Given the description of an element on the screen output the (x, y) to click on. 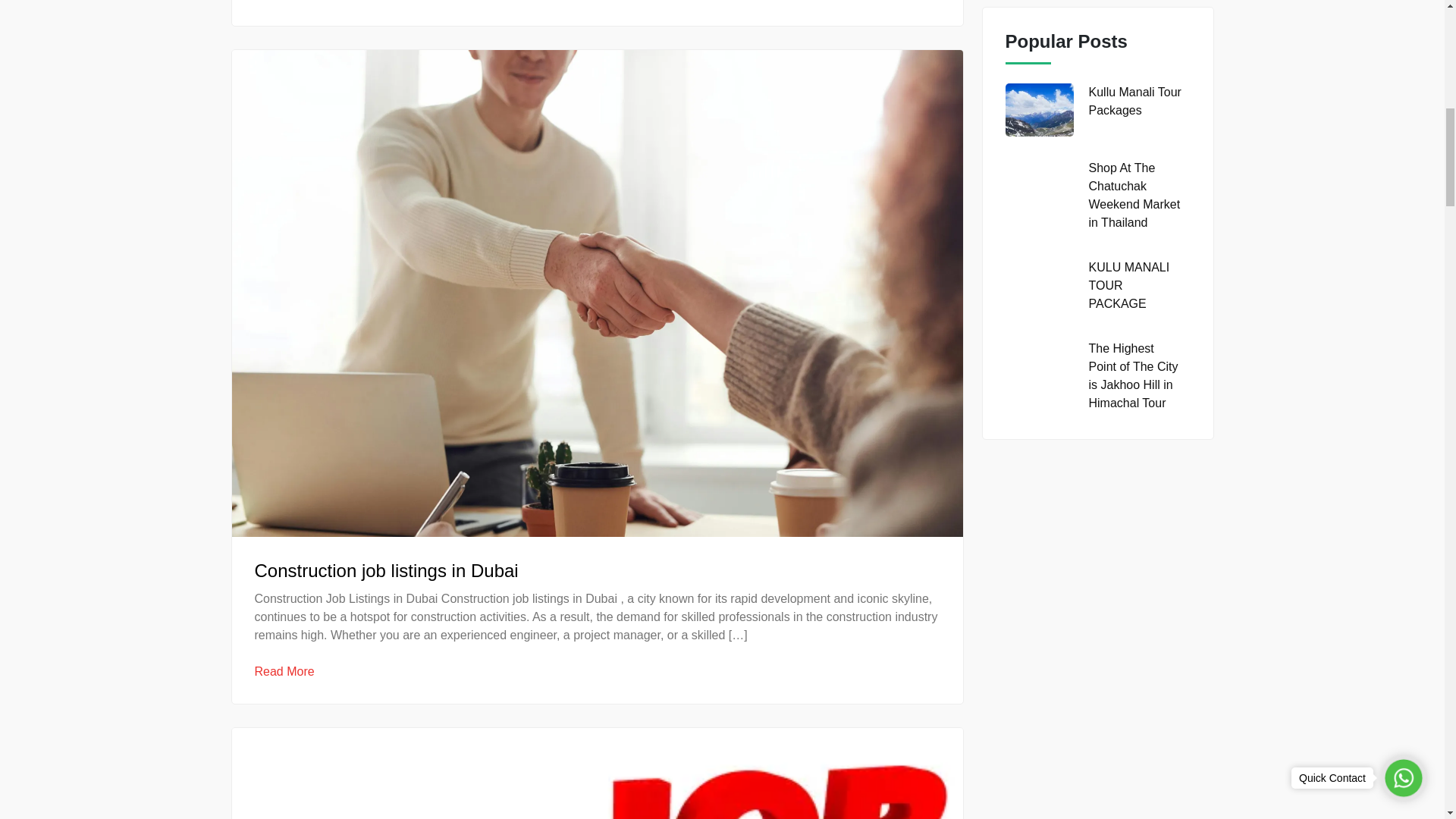
Construction job listings in Dubai (386, 570)
Read More (284, 1)
Read More (284, 671)
